Given the description of an element on the screen output the (x, y) to click on. 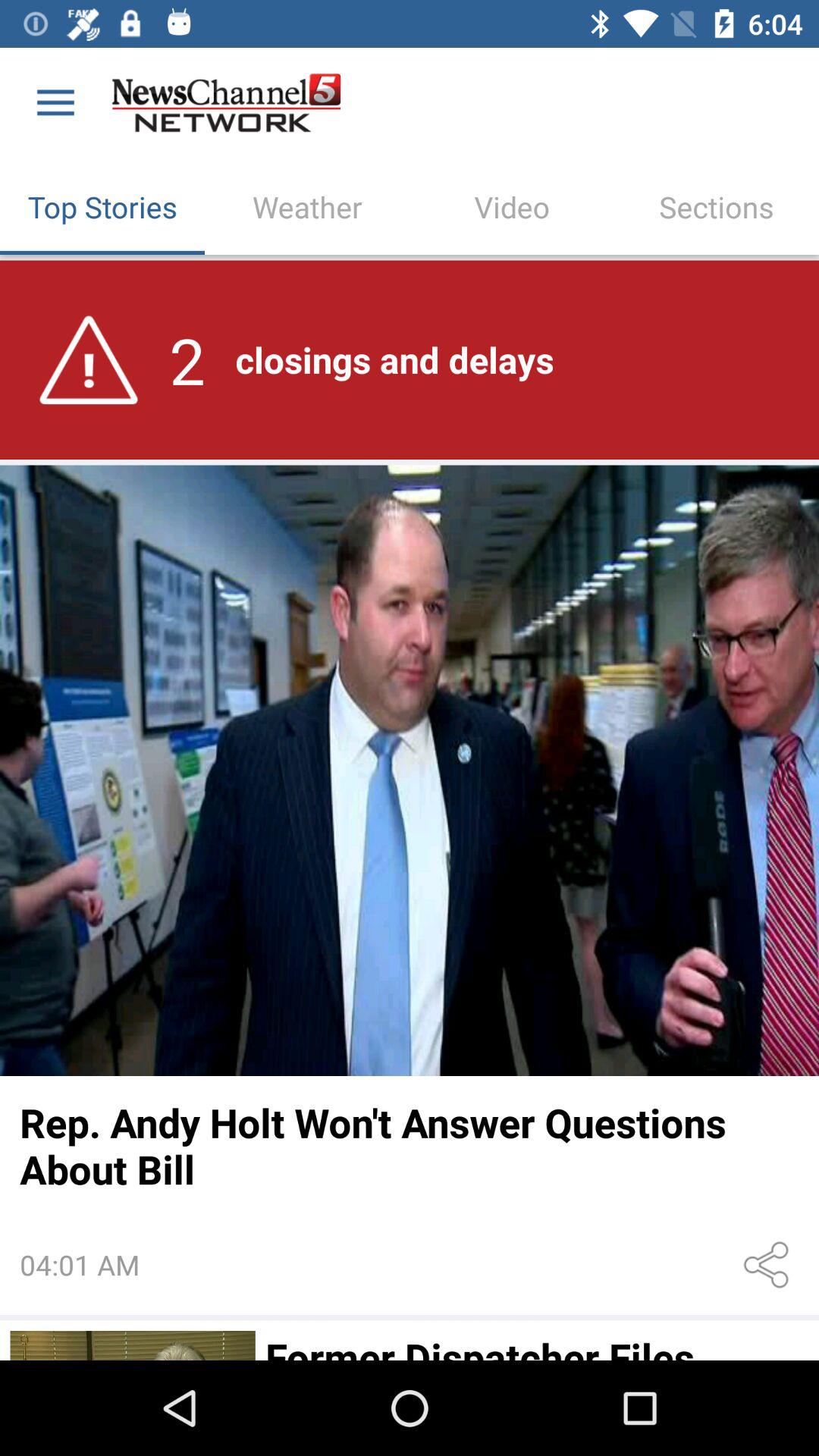
turn off icon next to 04:01 am item (769, 1265)
